Given the description of an element on the screen output the (x, y) to click on. 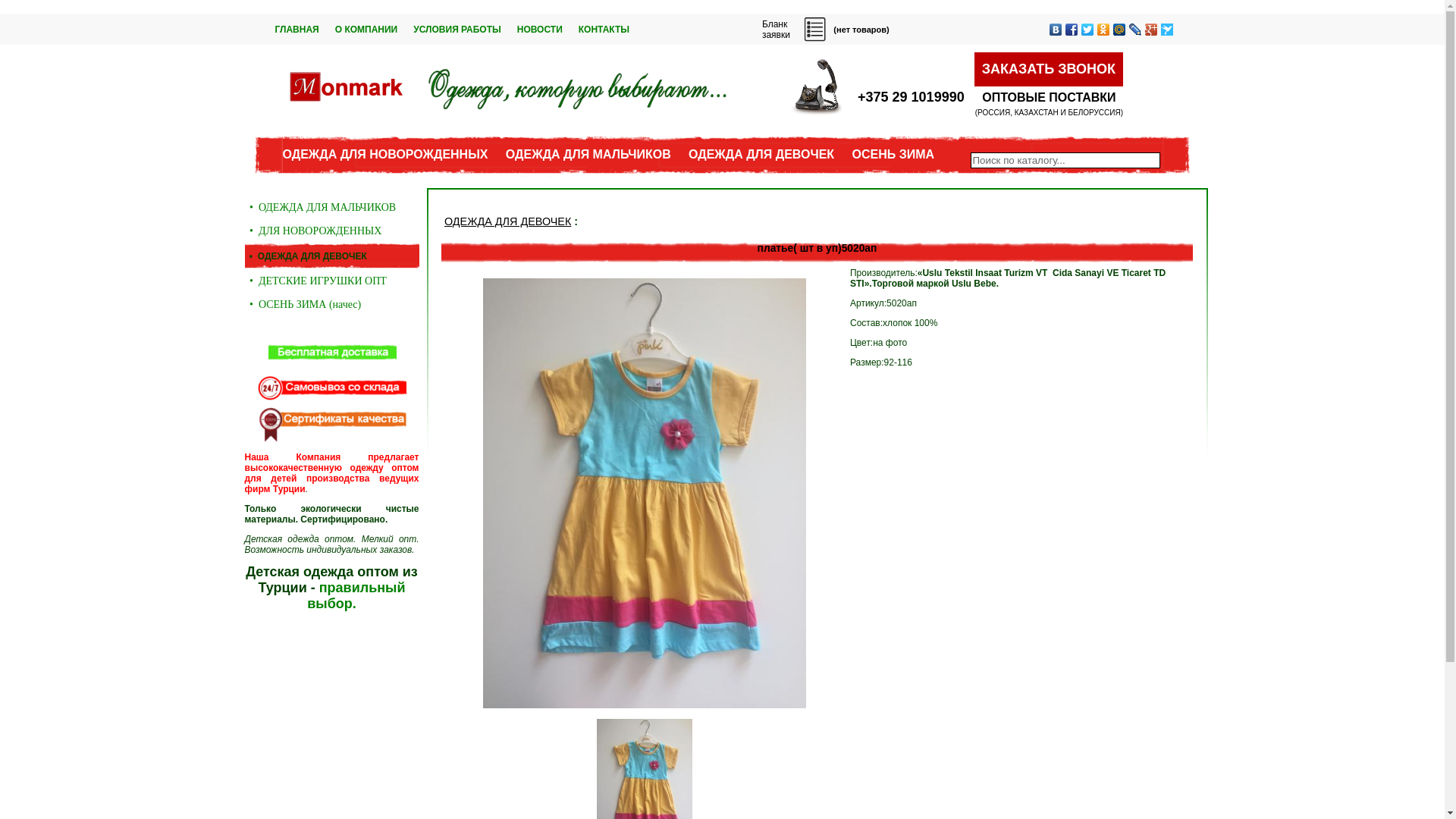
LiveJournal Element type: hover (1134, 29)
Google Plus Element type: hover (1151, 29)
Twitter Element type: hover (1087, 29)
Surfingbird Element type: hover (1166, 29)
Facebook Element type: hover (1071, 29)
